Given the description of an element on the screen output the (x, y) to click on. 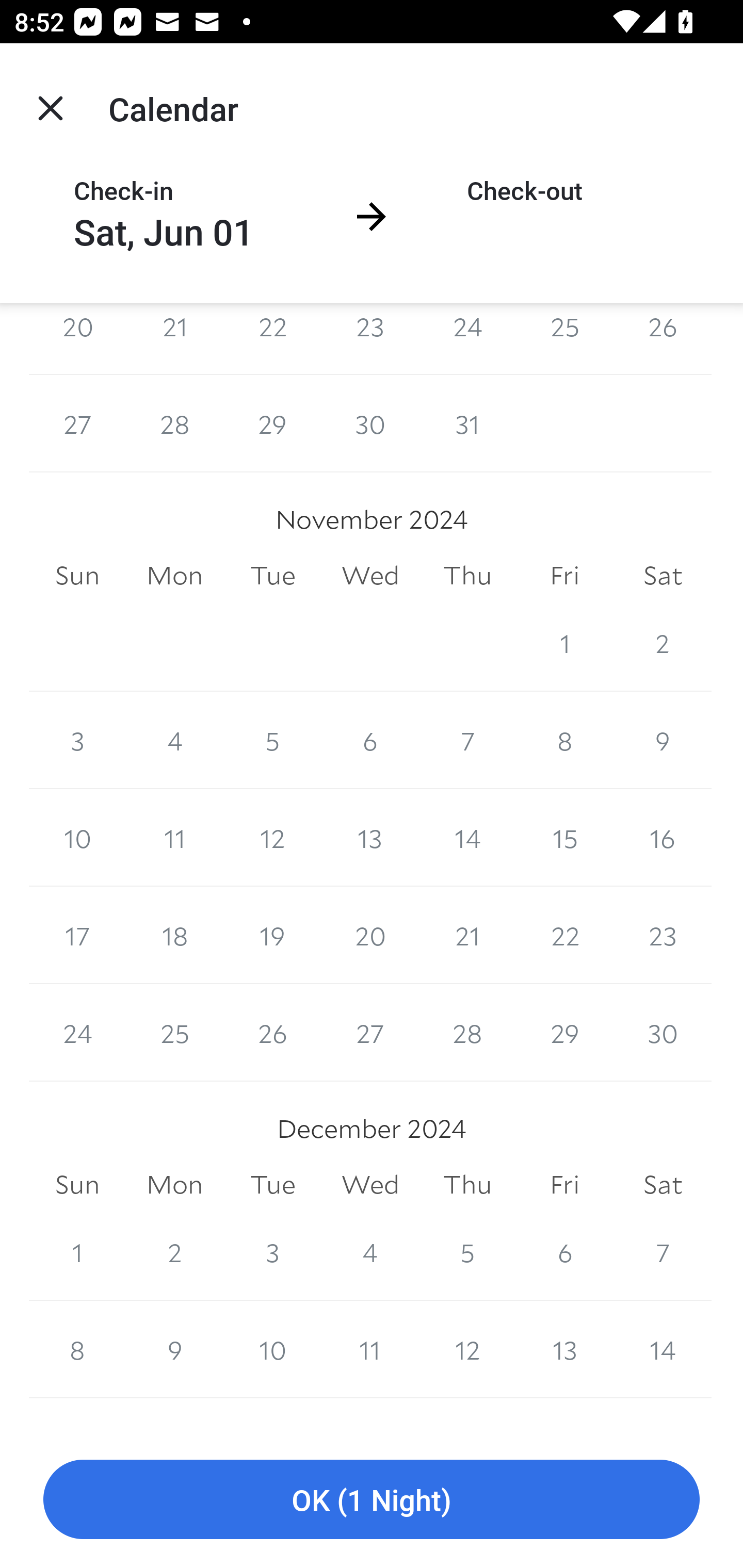
20 20 October 2024 (77, 338)
21 21 October 2024 (174, 338)
22 22 October 2024 (272, 338)
23 23 October 2024 (370, 338)
24 24 October 2024 (467, 338)
25 25 October 2024 (564, 338)
26 26 October 2024 (662, 338)
27 27 October 2024 (77, 422)
28 28 October 2024 (174, 422)
29 29 October 2024 (272, 422)
30 30 October 2024 (370, 422)
31 31 October 2024 (467, 422)
Sun (77, 575)
Mon (174, 575)
Tue (272, 575)
Wed (370, 575)
Thu (467, 575)
Fri (564, 575)
Sat (662, 575)
1 1 November 2024 (564, 642)
2 2 November 2024 (662, 642)
3 3 November 2024 (77, 739)
4 4 November 2024 (174, 739)
5 5 November 2024 (272, 739)
6 6 November 2024 (370, 739)
7 7 November 2024 (467, 739)
8 8 November 2024 (564, 739)
9 9 November 2024 (662, 739)
10 10 November 2024 (77, 836)
11 11 November 2024 (174, 836)
12 12 November 2024 (272, 836)
13 13 November 2024 (370, 836)
14 14 November 2024 (467, 836)
15 15 November 2024 (564, 836)
16 16 November 2024 (662, 836)
17 17 November 2024 (77, 934)
18 18 November 2024 (174, 934)
19 19 November 2024 (272, 934)
20 20 November 2024 (370, 934)
21 21 November 2024 (467, 934)
22 22 November 2024 (564, 934)
23 23 November 2024 (662, 934)
24 24 November 2024 (77, 1032)
25 25 November 2024 (174, 1032)
26 26 November 2024 (272, 1032)
27 27 November 2024 (370, 1032)
28 28 November 2024 (467, 1032)
29 29 November 2024 (564, 1032)
30 30 November 2024 (662, 1032)
Sun (77, 1184)
Mon (174, 1184)
Tue (272, 1184)
Wed (370, 1184)
Thu (467, 1184)
Fri (564, 1184)
Sat (662, 1184)
1 1 December 2024 (77, 1251)
2 2 December 2024 (174, 1251)
3 3 December 2024 (272, 1251)
4 4 December 2024 (370, 1251)
5 5 December 2024 (467, 1251)
6 6 December 2024 (564, 1251)
7 7 December 2024 (662, 1251)
8 8 December 2024 (77, 1349)
9 9 December 2024 (174, 1349)
10 10 December 2024 (272, 1349)
11 11 December 2024 (370, 1349)
12 12 December 2024 (467, 1349)
13 13 December 2024 (564, 1349)
14 14 December 2024 (662, 1349)
OK (1 Night) (371, 1499)
